Given the description of an element on the screen output the (x, y) to click on. 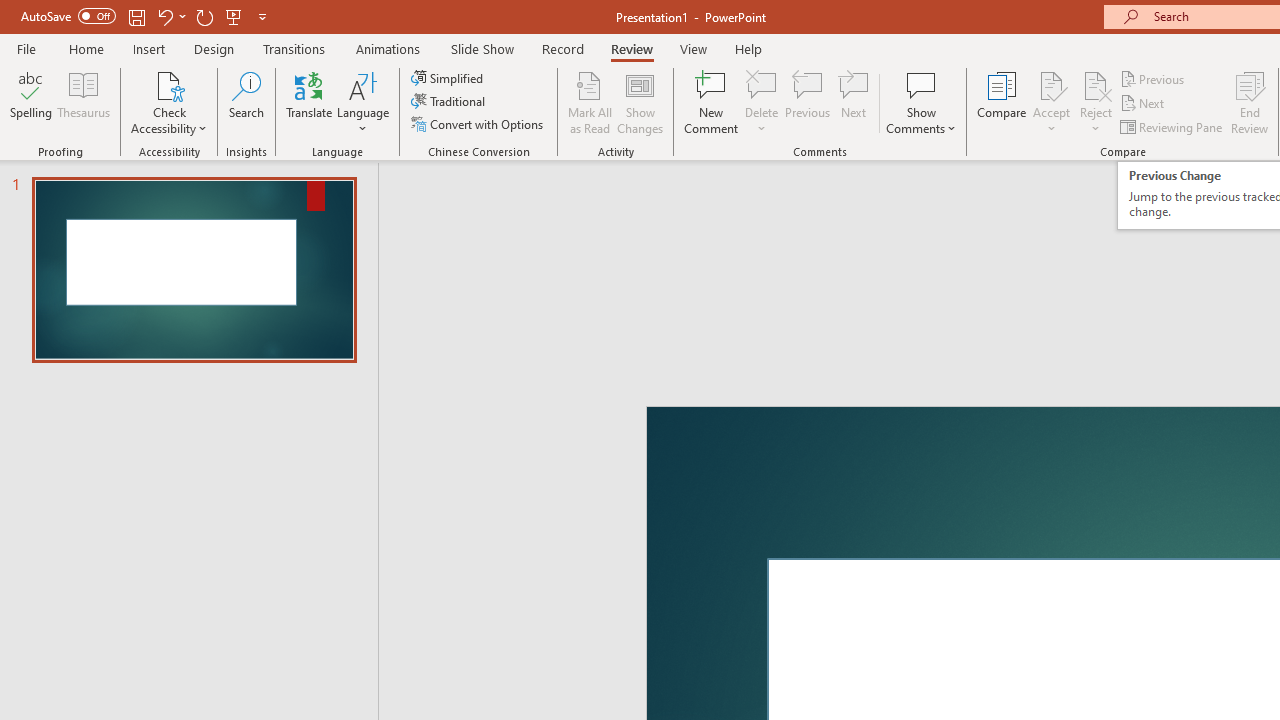
Simplified (449, 78)
